Given the description of an element on the screen output the (x, y) to click on. 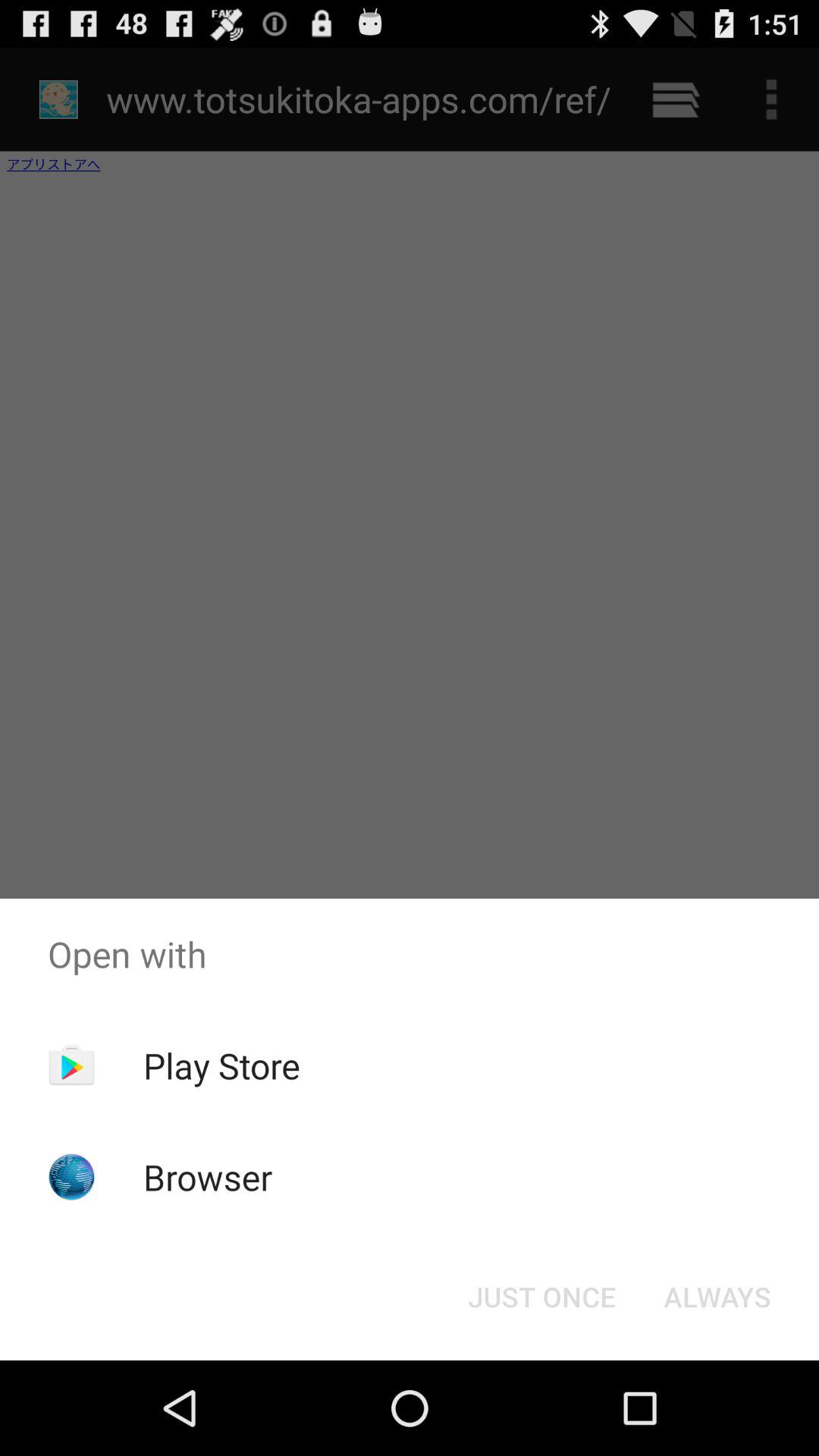
select the always (717, 1296)
